Given the description of an element on the screen output the (x, y) to click on. 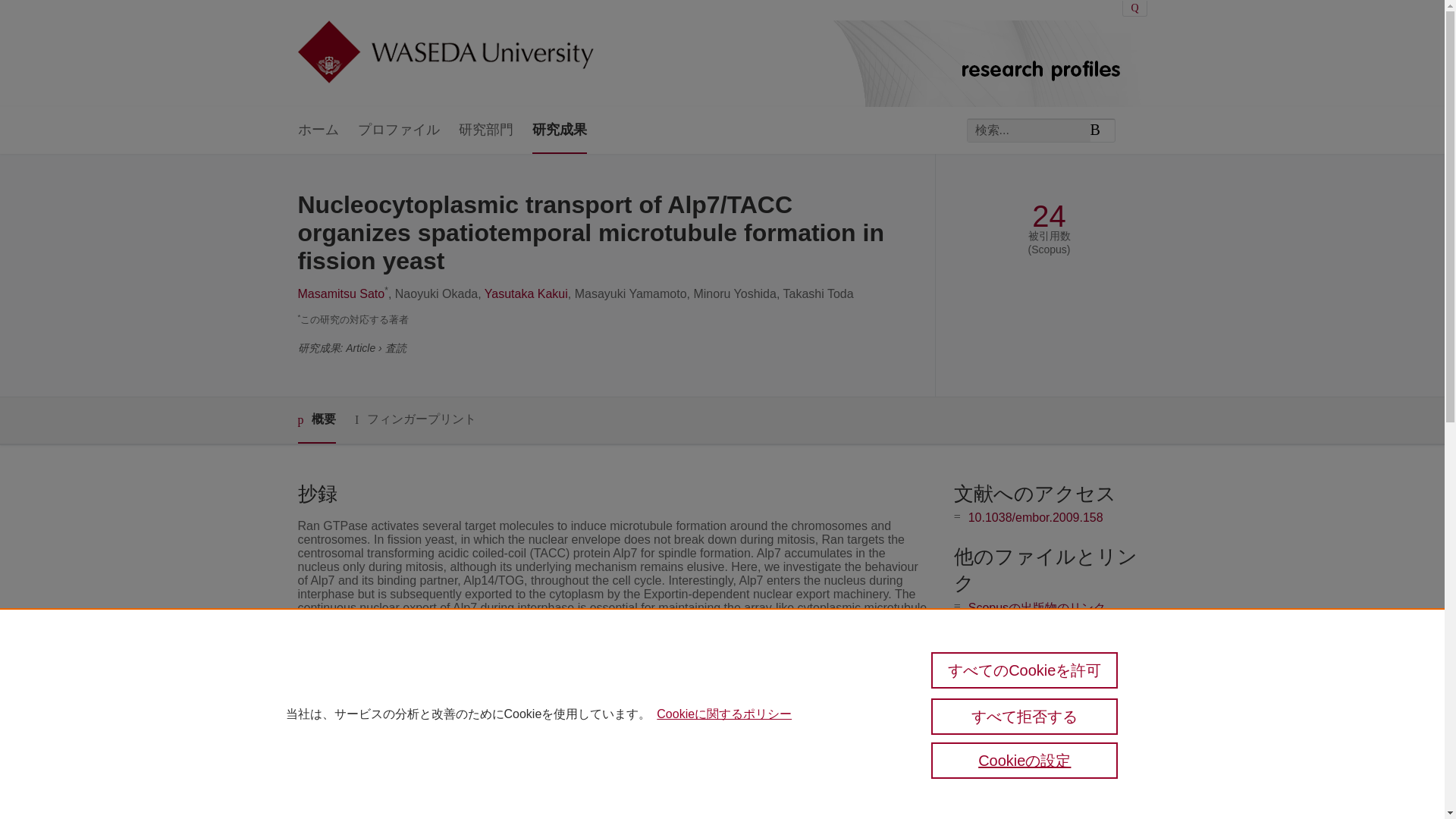
EMBO Reports (552, 744)
24 (1048, 216)
Yasutaka Kakui (525, 293)
Masamitsu Sato (340, 293)
